Given the description of an element on the screen output the (x, y) to click on. 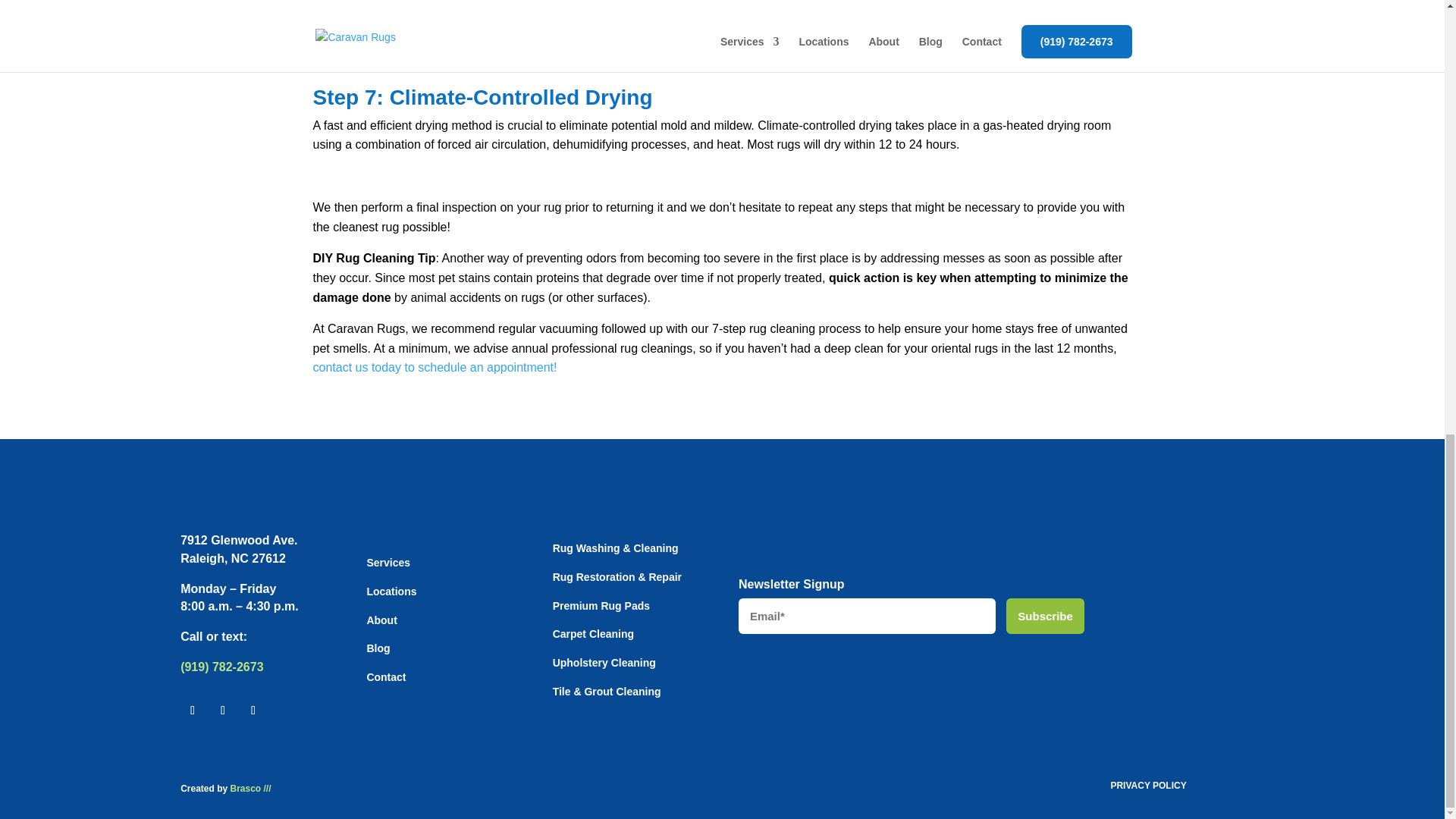
Blog (378, 648)
Premium Rug Pads (601, 605)
Follow on Youtube (252, 710)
Subscribe (1045, 615)
Follow on Instagram (222, 710)
Follow on Facebook (192, 710)
PRIVACY POLICY (1147, 785)
Services (388, 562)
contact us today to schedule an appointment! (434, 367)
Upholstery Cleaning (604, 662)
About (381, 620)
Locations (391, 591)
Carpet Cleaning (593, 633)
Contact (386, 676)
Subscribe (1045, 615)
